Given the description of an element on the screen output the (x, y) to click on. 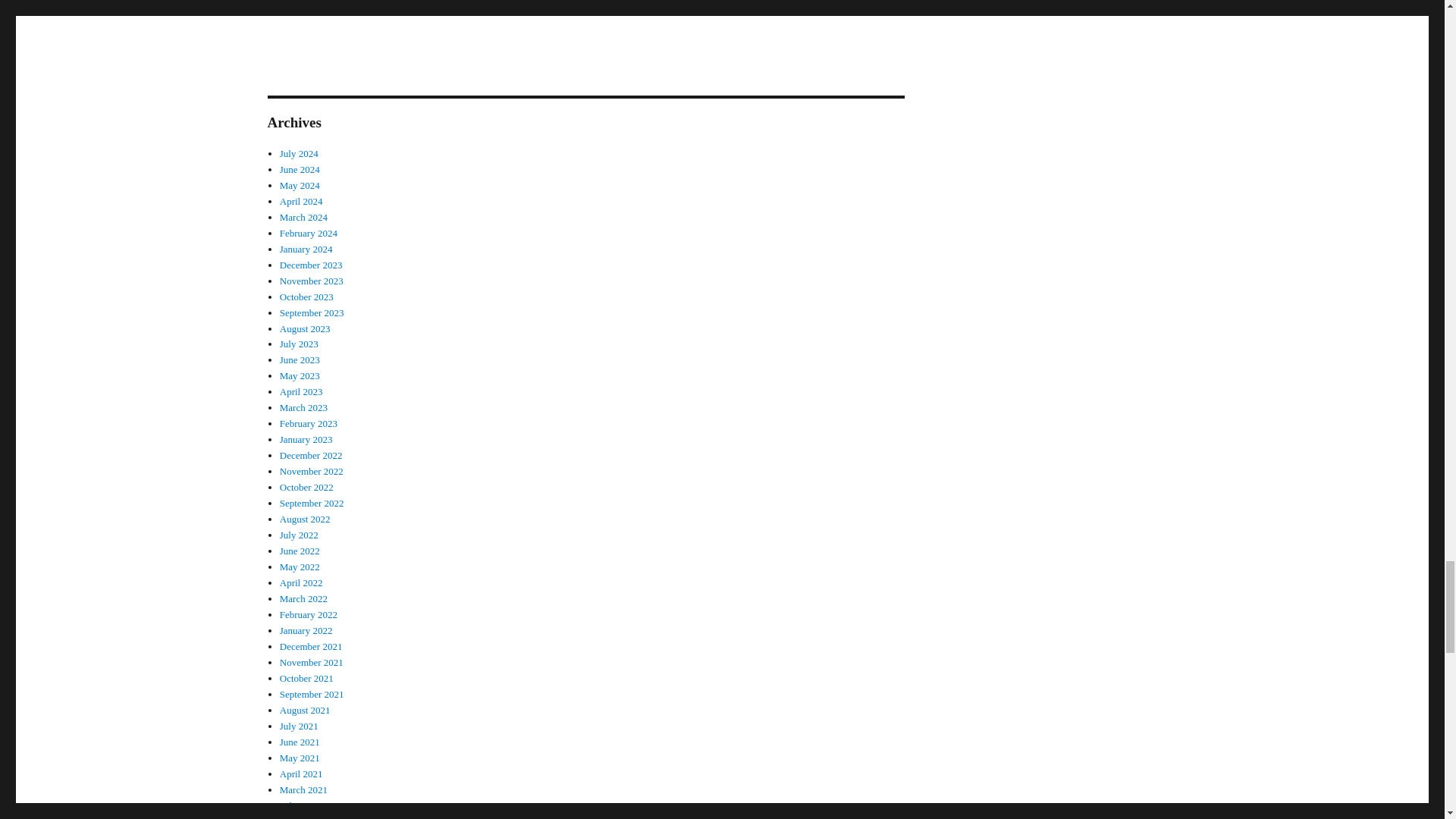
April 2023 (301, 391)
April 2024 (301, 201)
September 2023 (311, 312)
July 2024 (298, 153)
May 2024 (299, 184)
January 2023 (306, 439)
January 2024 (306, 248)
May 2023 (299, 375)
June 2024 (299, 169)
December 2023 (310, 265)
November 2023 (311, 280)
November 2022 (311, 471)
October 2022 (306, 487)
December 2022 (310, 455)
August 2023 (304, 328)
